Given the description of an element on the screen output the (x, y) to click on. 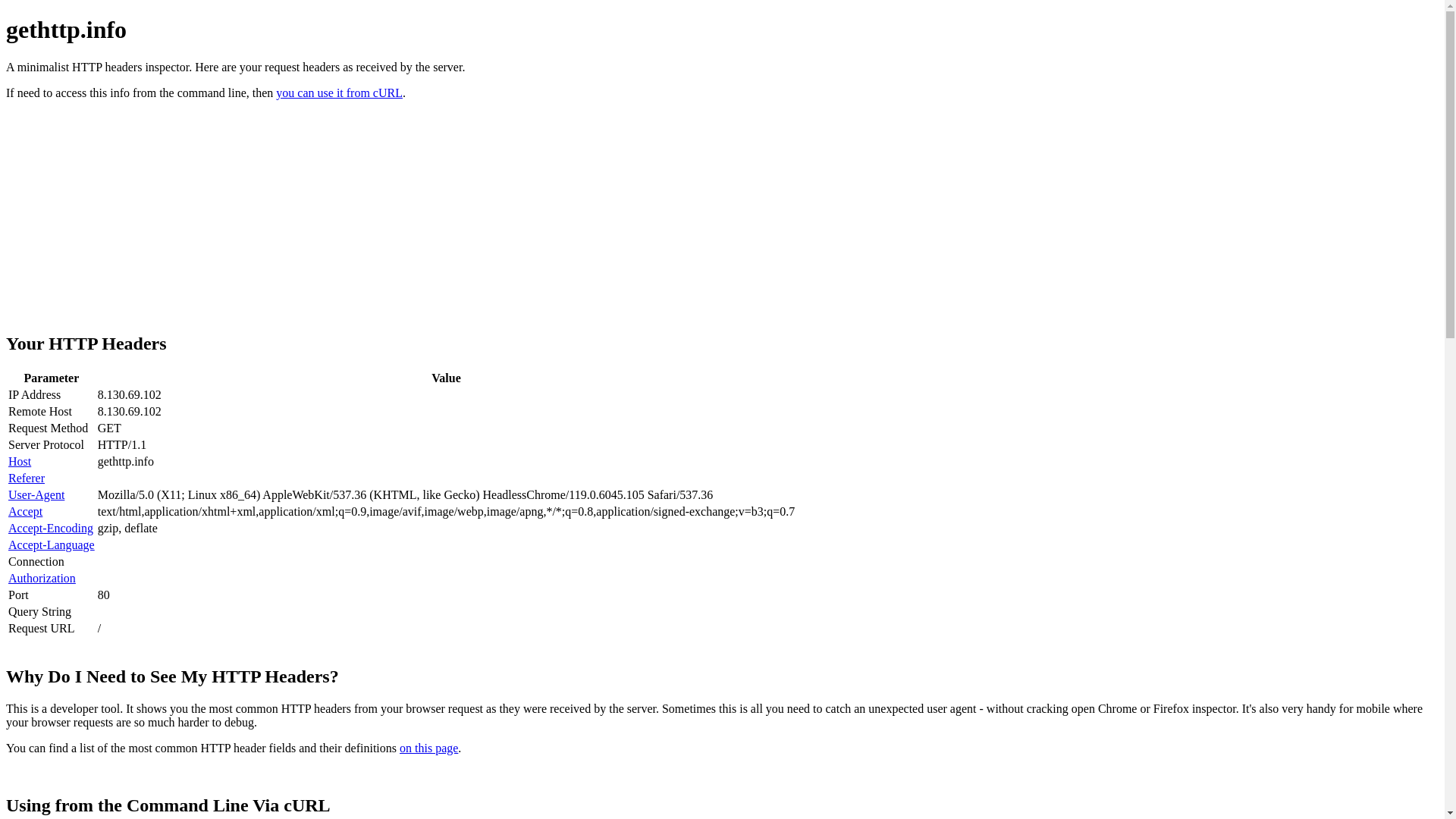
Referer Element type: text (26, 477)
Advertisement Element type: hover (373, 220)
User-Agent Element type: text (36, 494)
Accept-Language Element type: text (51, 544)
you can use it from cURL Element type: text (339, 92)
Authorization Element type: text (41, 577)
Host Element type: text (19, 461)
Accept-Encoding Element type: text (50, 527)
Accept Element type: text (25, 511)
on this page Element type: text (428, 747)
